Given the description of an element on the screen output the (x, y) to click on. 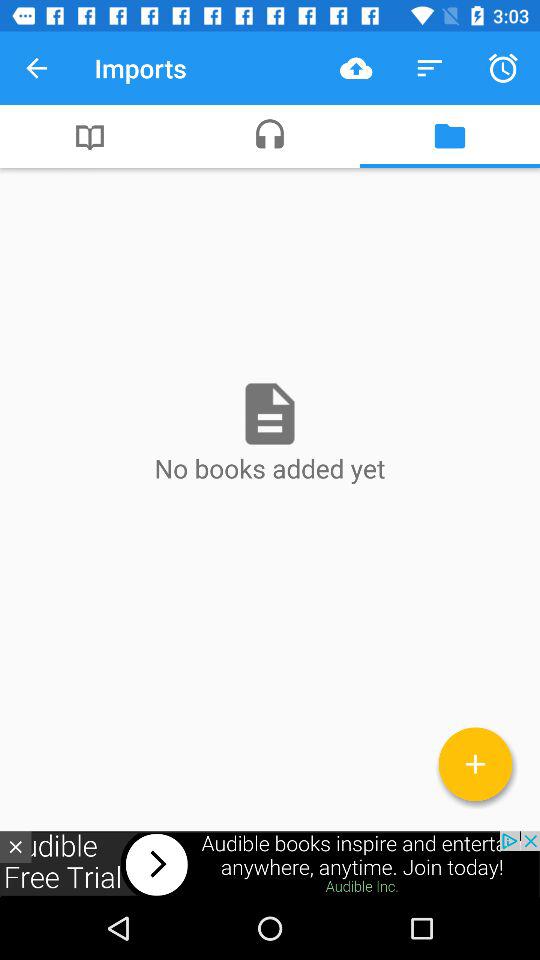
add item (475, 764)
